Given the description of an element on the screen output the (x, y) to click on. 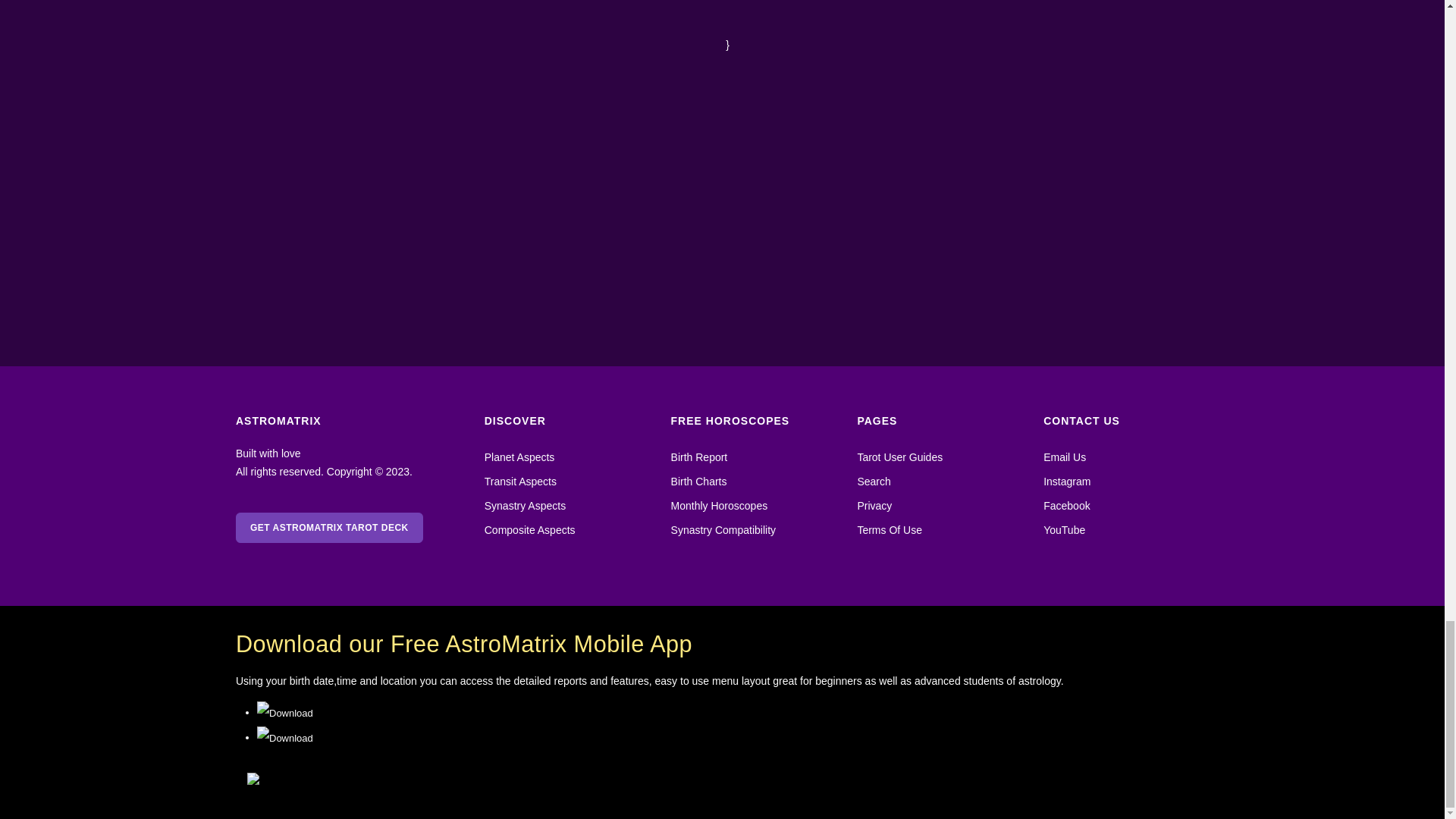
Download (285, 713)
Download (285, 738)
